Given the description of an element on the screen output the (x, y) to click on. 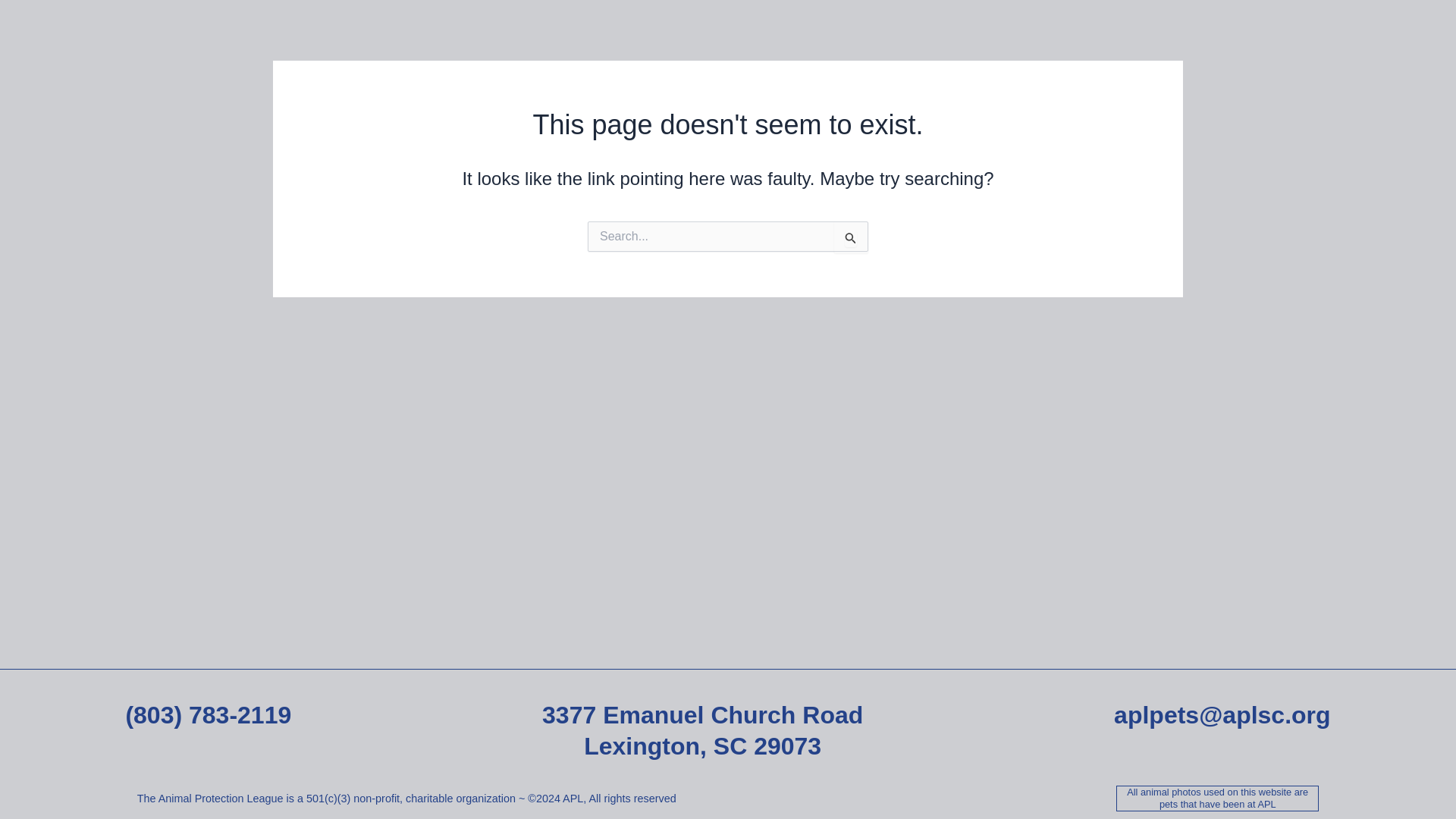
Search (850, 237)
Search (850, 237)
Search (850, 237)
